Given the description of an element on the screen output the (x, y) to click on. 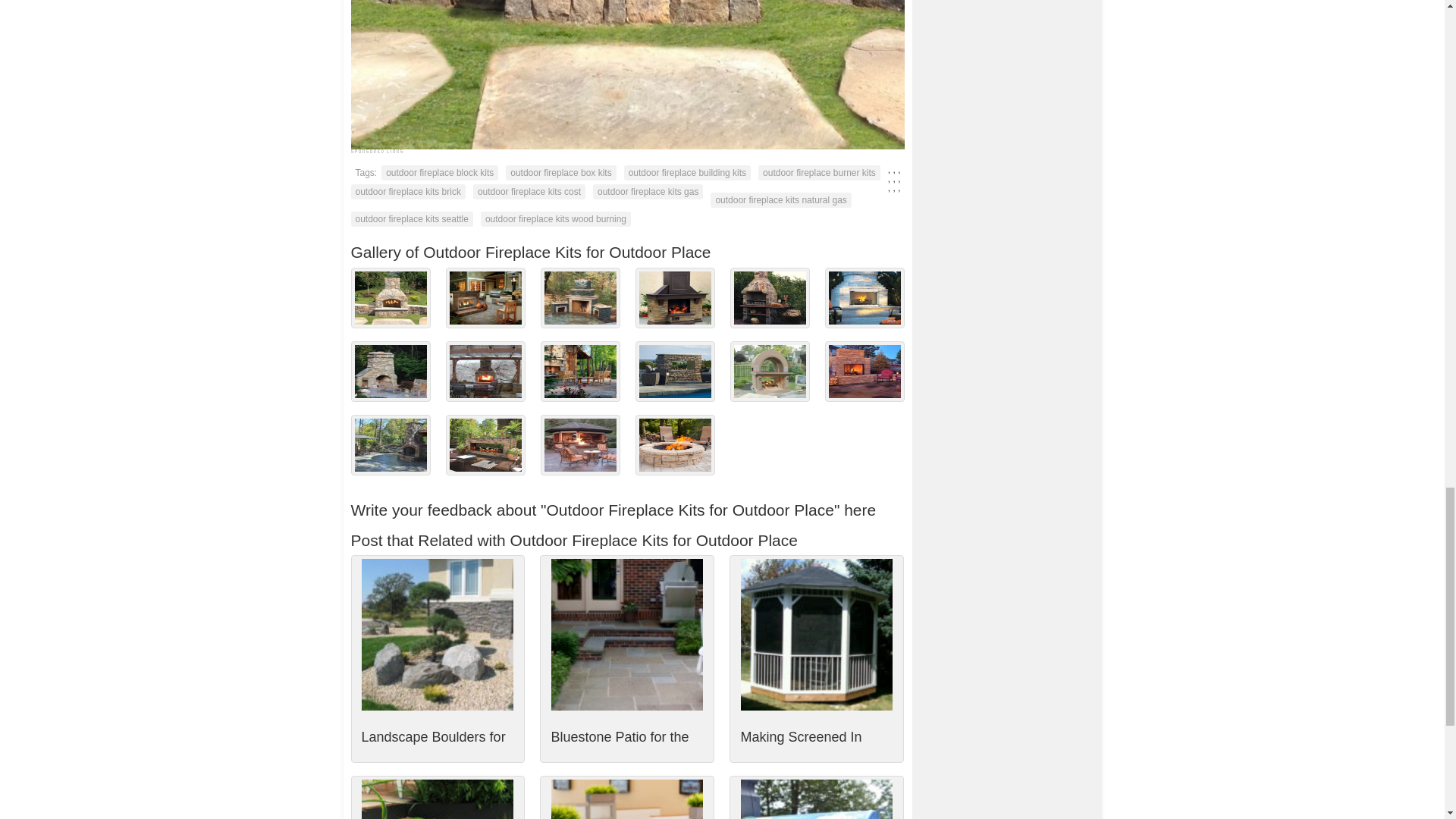
outdoor fireplace block kits (439, 172)
outdoor fireplace kits brick (407, 191)
outdoor fireplace kits cost (529, 191)
outdoor fireplace kits natural gas (780, 200)
outdoor fireplace box kits (560, 172)
outdoor fireplace building kits (687, 172)
outdoor fireplace kits seattle (410, 218)
outdoor fireplace kits wood burning (555, 218)
outdoor fireplace burner kits (819, 172)
outdoor fireplace kits gas (647, 191)
